Given the description of an element on the screen output the (x, y) to click on. 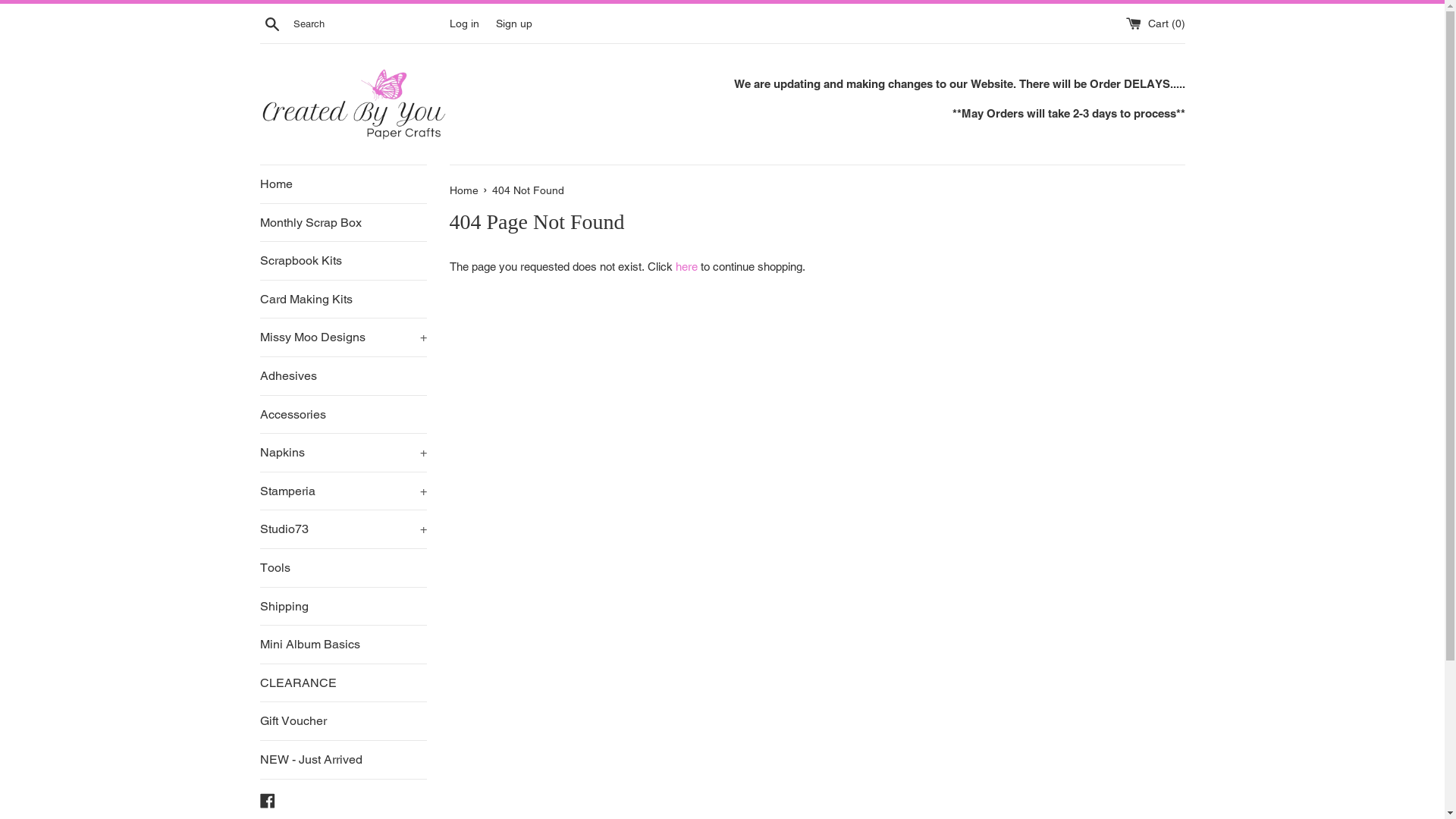
here Element type: text (685, 266)
Facebook Element type: text (266, 799)
Accessories Element type: text (342, 414)
Card Making Kits Element type: text (342, 299)
Napkins
+ Element type: text (342, 452)
Missy Moo Designs
+ Element type: text (342, 337)
Home Element type: text (342, 184)
Scrapbook Kits Element type: text (342, 260)
Adhesives Element type: text (342, 376)
Search Element type: text (271, 23)
Cart (0) Element type: text (1154, 22)
Sign up Element type: text (513, 22)
Stamperia
+ Element type: text (342, 491)
Log in Element type: text (463, 22)
Shipping Element type: text (342, 606)
Home Element type: text (464, 190)
Mini Album Basics Element type: text (342, 644)
Studio73
+ Element type: text (342, 529)
Monthly Scrap Box Element type: text (342, 222)
Gift Voucher Element type: text (342, 721)
Tools Element type: text (342, 567)
CLEARANCE Element type: text (342, 683)
NEW - Just Arrived Element type: text (342, 759)
